Given the description of an element on the screen output the (x, y) to click on. 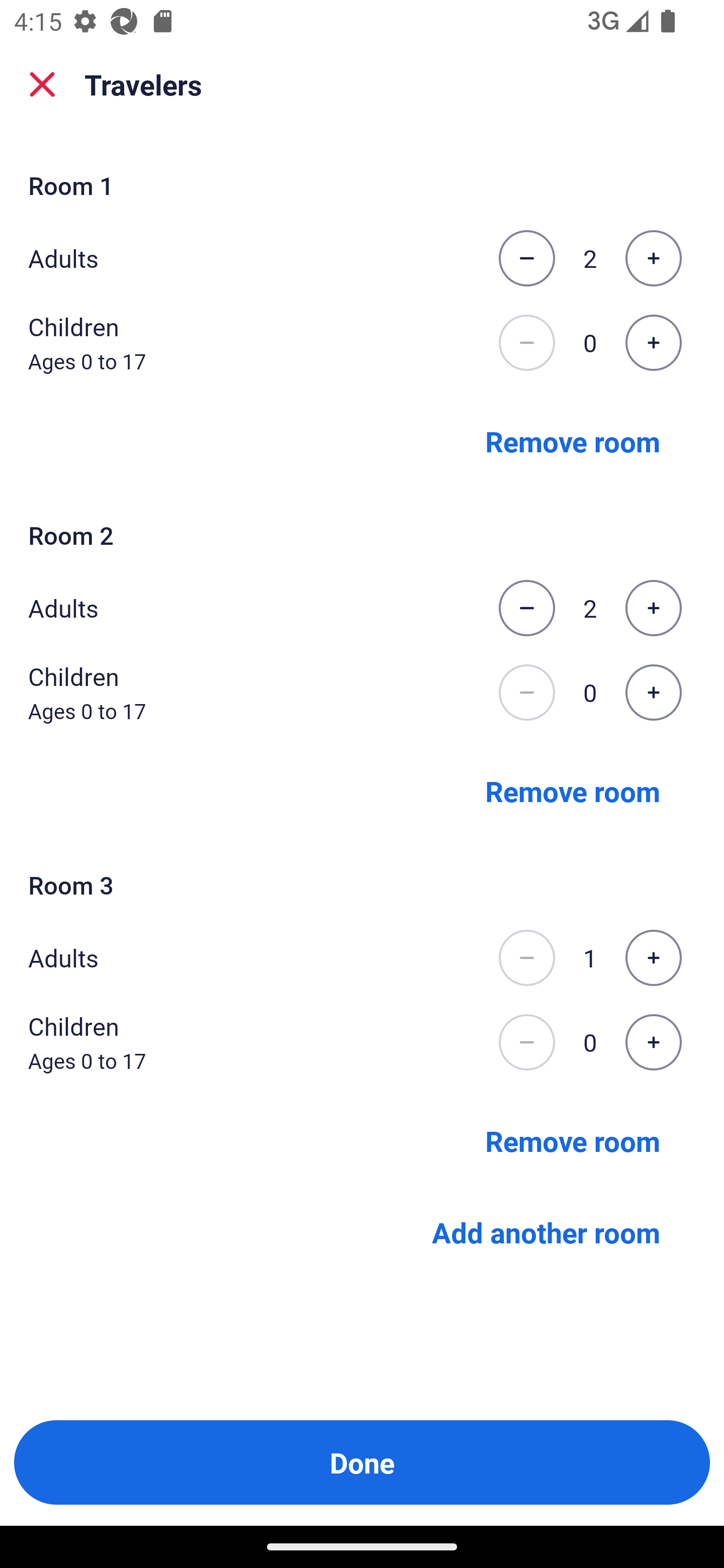
close (42, 84)
Decrease the number of adults (526, 258)
Increase the number of adults (653, 258)
Decrease the number of children (526, 343)
Increase the number of children (653, 343)
Remove room (572, 440)
Decrease the number of adults (526, 608)
Increase the number of adults (653, 608)
Decrease the number of children (526, 692)
Increase the number of children (653, 692)
Remove room (572, 790)
Decrease the number of adults (526, 957)
Increase the number of adults (653, 957)
Decrease the number of children (526, 1042)
Increase the number of children (653, 1042)
Remove room (572, 1140)
Add another room (545, 1232)
Done (361, 1462)
